Given the description of an element on the screen output the (x, y) to click on. 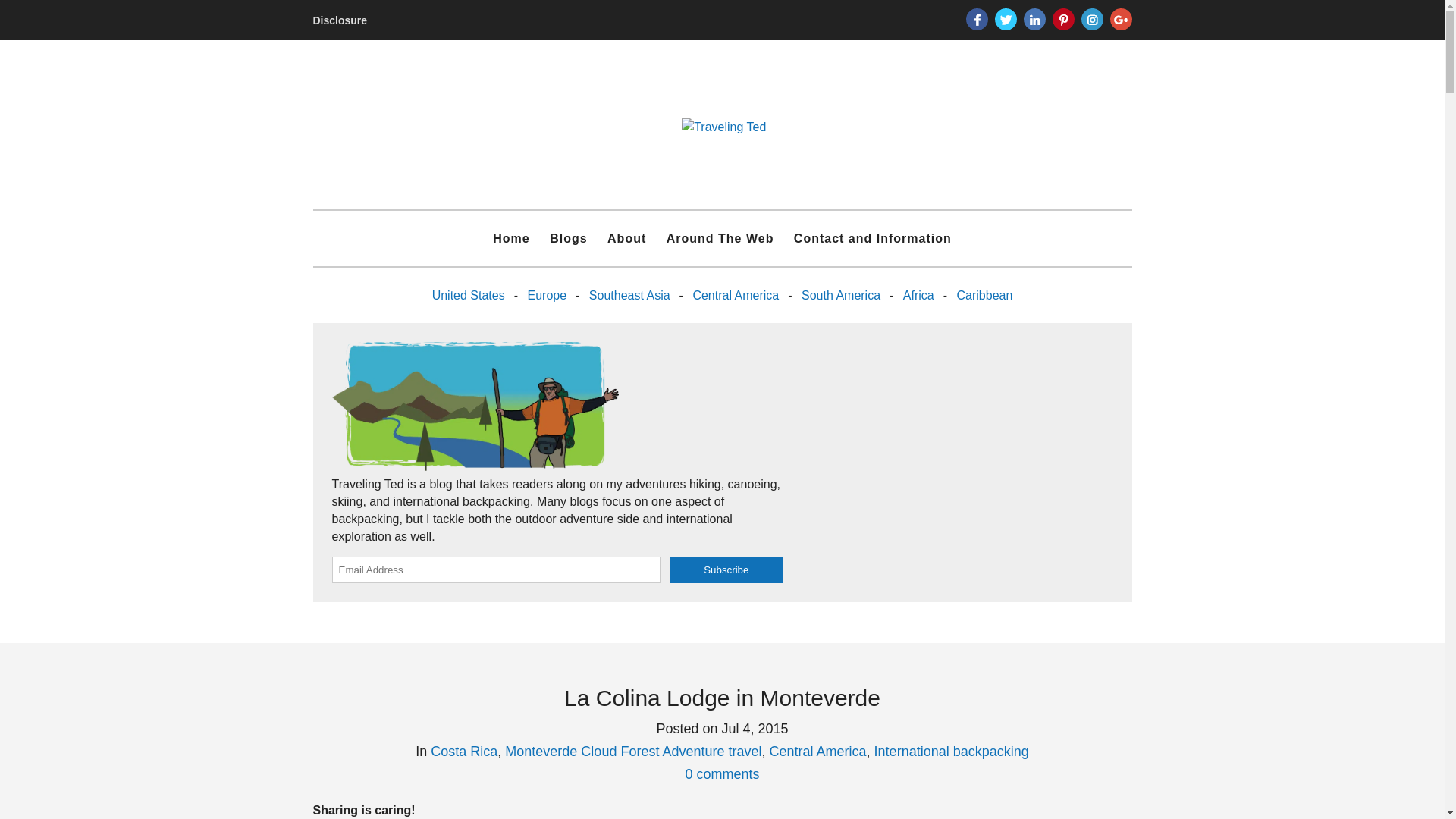
Around The Web (720, 238)
Central America (734, 294)
Southeast Asia (630, 294)
Contact and Information (872, 238)
South America (840, 294)
Adventure travel (711, 751)
United States (468, 294)
Subscribe (726, 569)
Africa (918, 294)
International backpacking (952, 751)
